Given the description of an element on the screen output the (x, y) to click on. 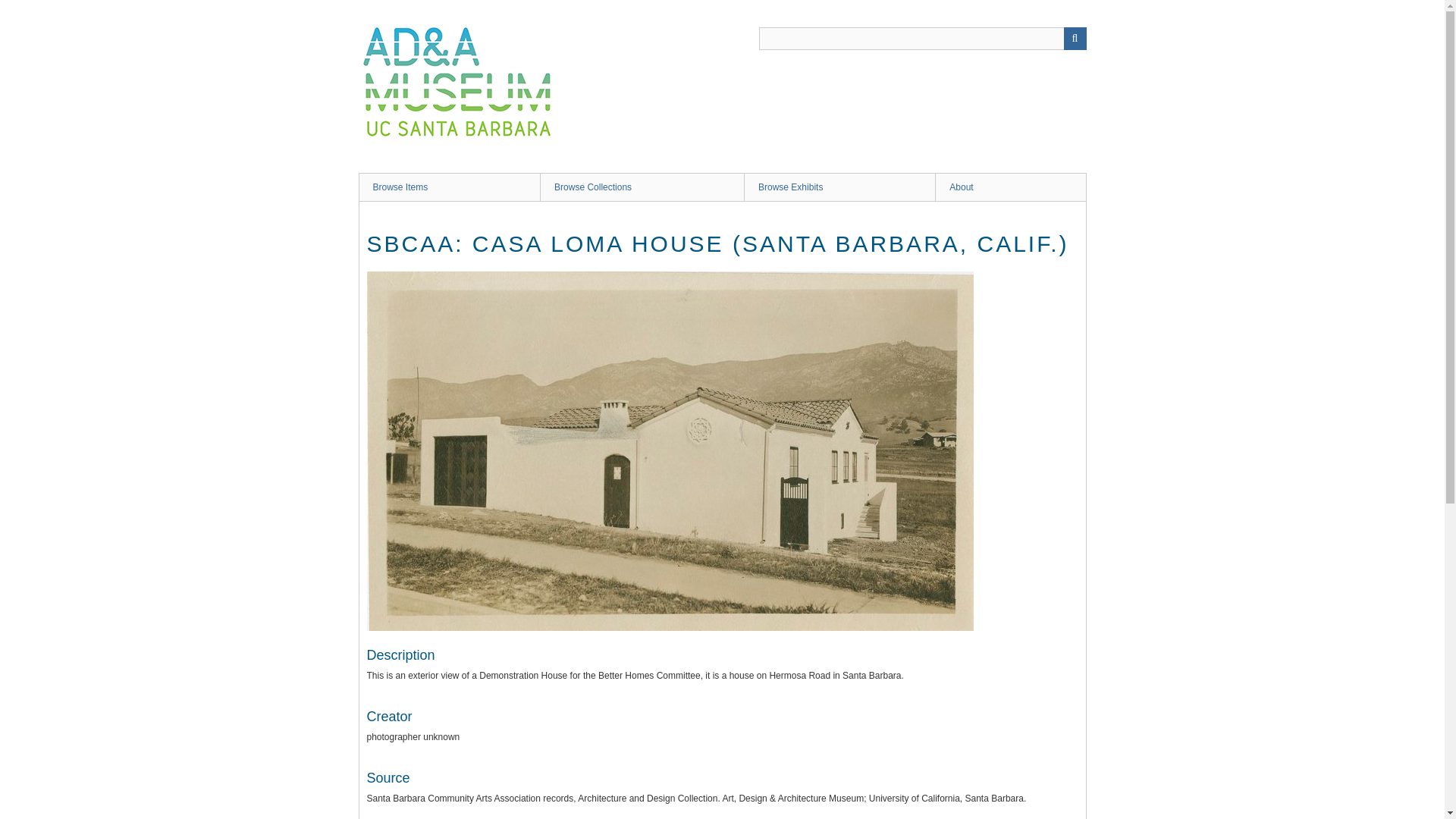
Browse Exhibits (839, 186)
Browse Collections (642, 186)
Search (922, 38)
About (1009, 186)
Browse Items (449, 186)
Search (1074, 38)
